Given the description of an element on the screen output the (x, y) to click on. 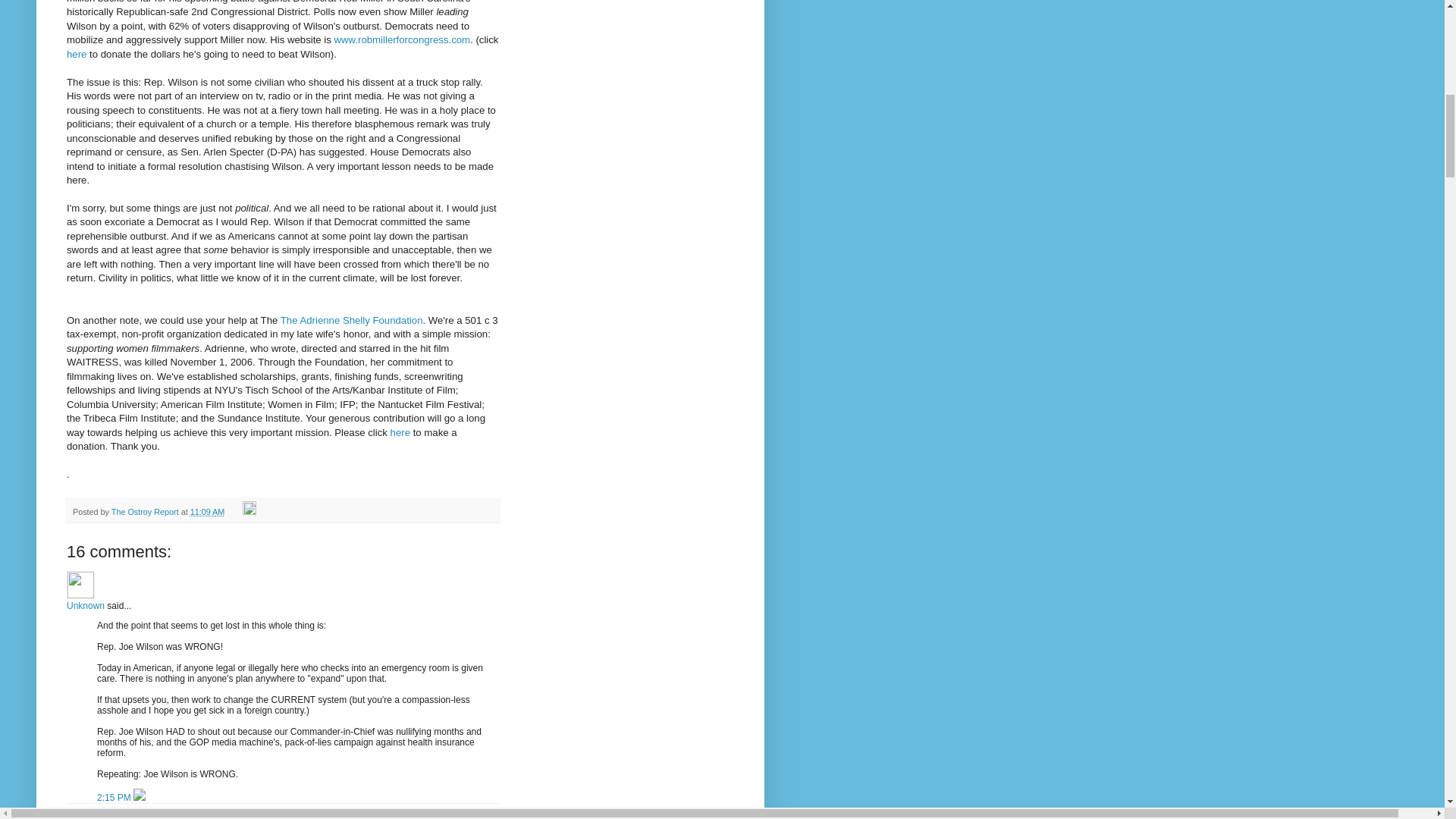
permanent link (207, 511)
author profile (146, 511)
Delete Comment (139, 797)
here (75, 53)
The Adrienne Shelly Foundation (352, 319)
here (400, 432)
Edit Post (249, 511)
Unknown (85, 605)
11:09 AM (207, 511)
The Ostroy Report (146, 511)
2:15 PM (115, 797)
comment permalink (115, 797)
Unknown (80, 584)
Email Post (235, 511)
www.robmillerforcongress.com (402, 39)
